Given the description of an element on the screen output the (x, y) to click on. 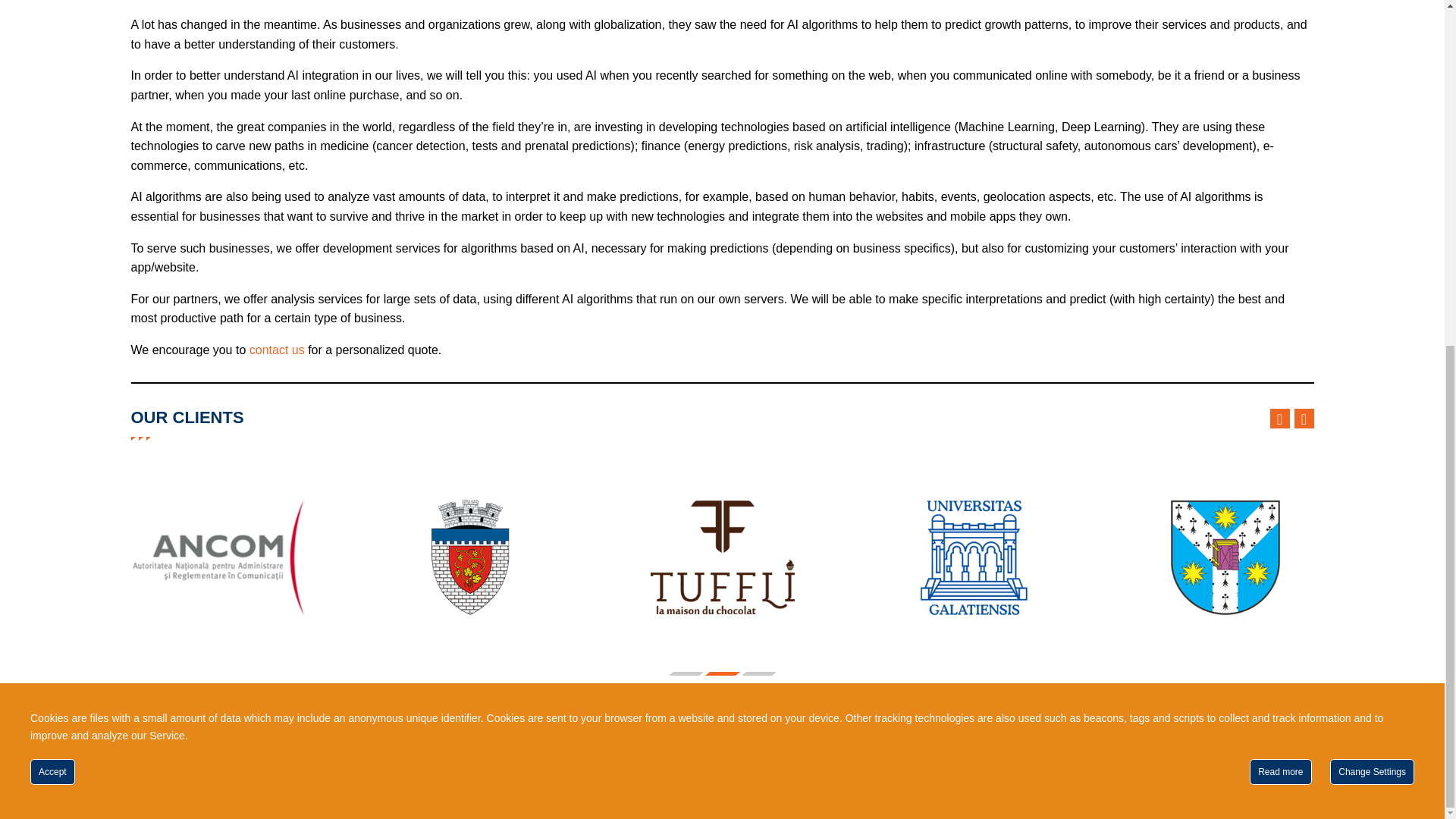
Previous (1278, 418)
contact us (276, 349)
